Given the description of an element on the screen output the (x, y) to click on. 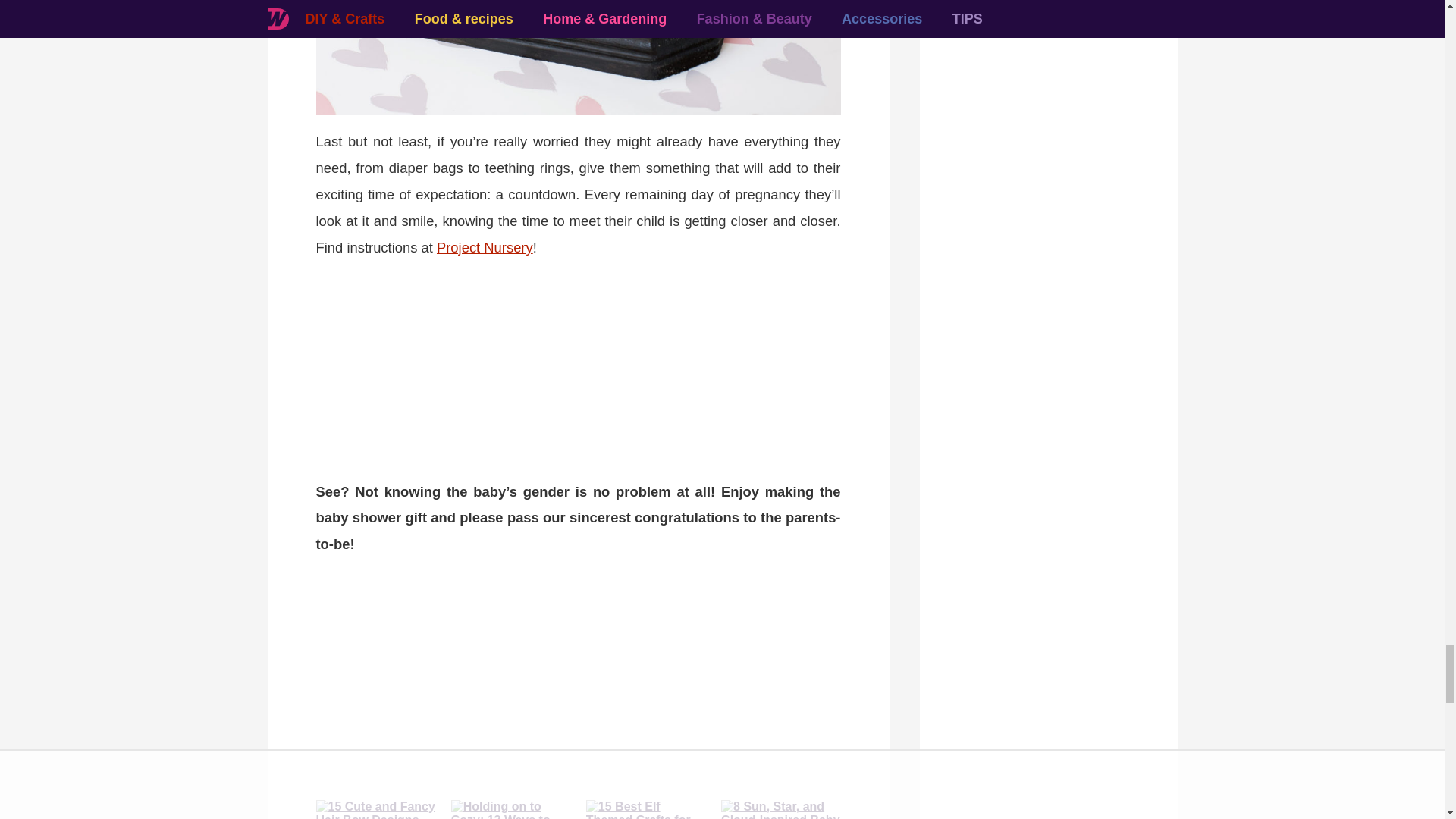
15 Cute and Fancy Hair Bow Designs (374, 809)
8 Sun, Star, and Cloud-Inspired Baby Mobiles (780, 809)
15 Best Elf Themed Crafts for Kids (645, 809)
